Given the description of an element on the screen output the (x, y) to click on. 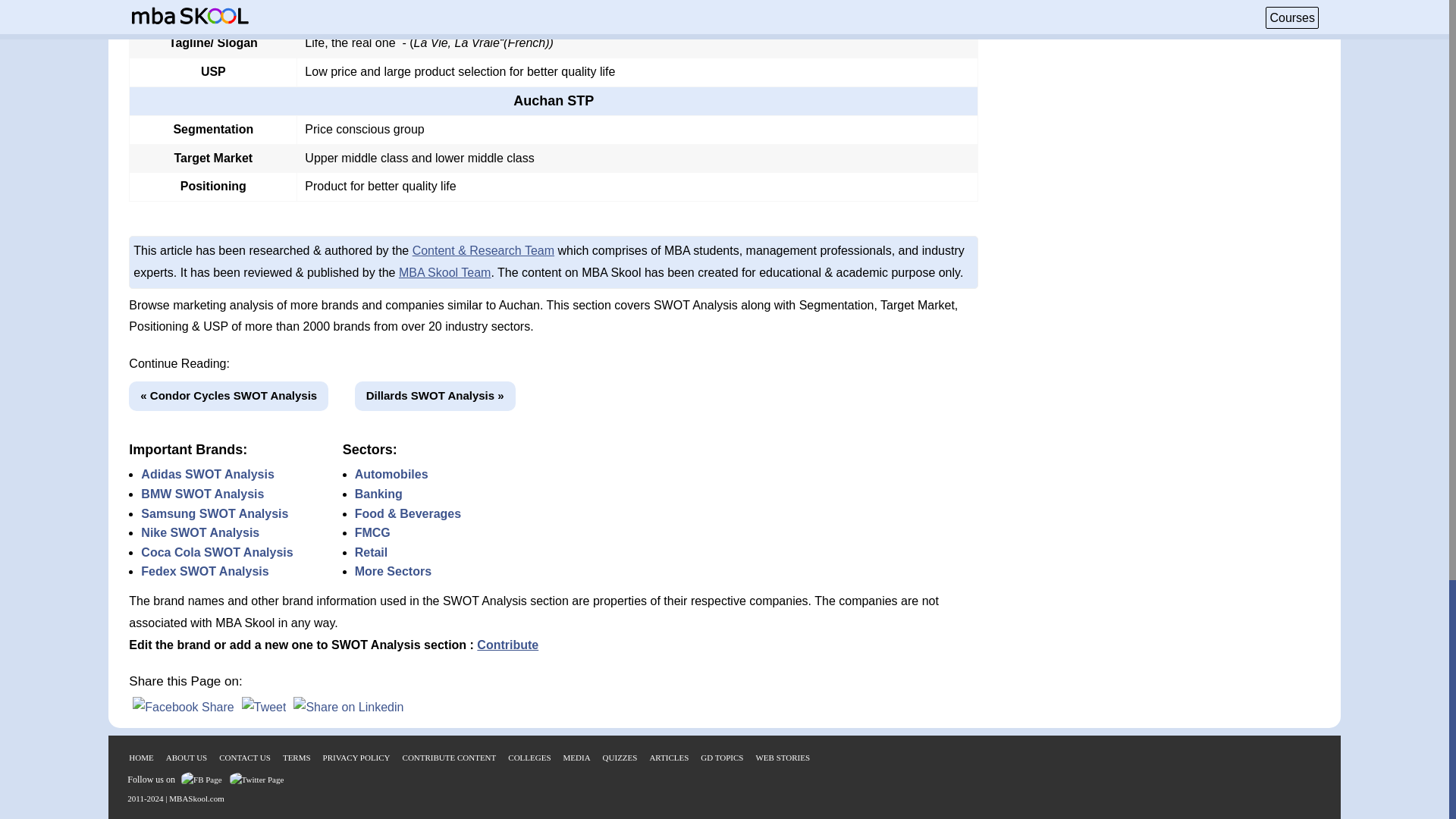
MBA Skool Team (445, 272)
Fedex SWOT Analysis (204, 571)
Samsung SWOT Analysis (214, 513)
Retail (371, 552)
Condor Cycles SWOT Analysis (229, 396)
Automobiles (391, 473)
Adidas SWOT Analysis (207, 473)
Facebook Share (182, 707)
More Sectors (392, 571)
Contribute (507, 644)
Banking (379, 493)
Nike SWOT Analysis (200, 532)
Coca Cola SWOT Analysis (216, 552)
Dillards SWOT Analysis (435, 396)
Lifestyle and Retail (359, 14)
